Given the description of an element on the screen output the (x, y) to click on. 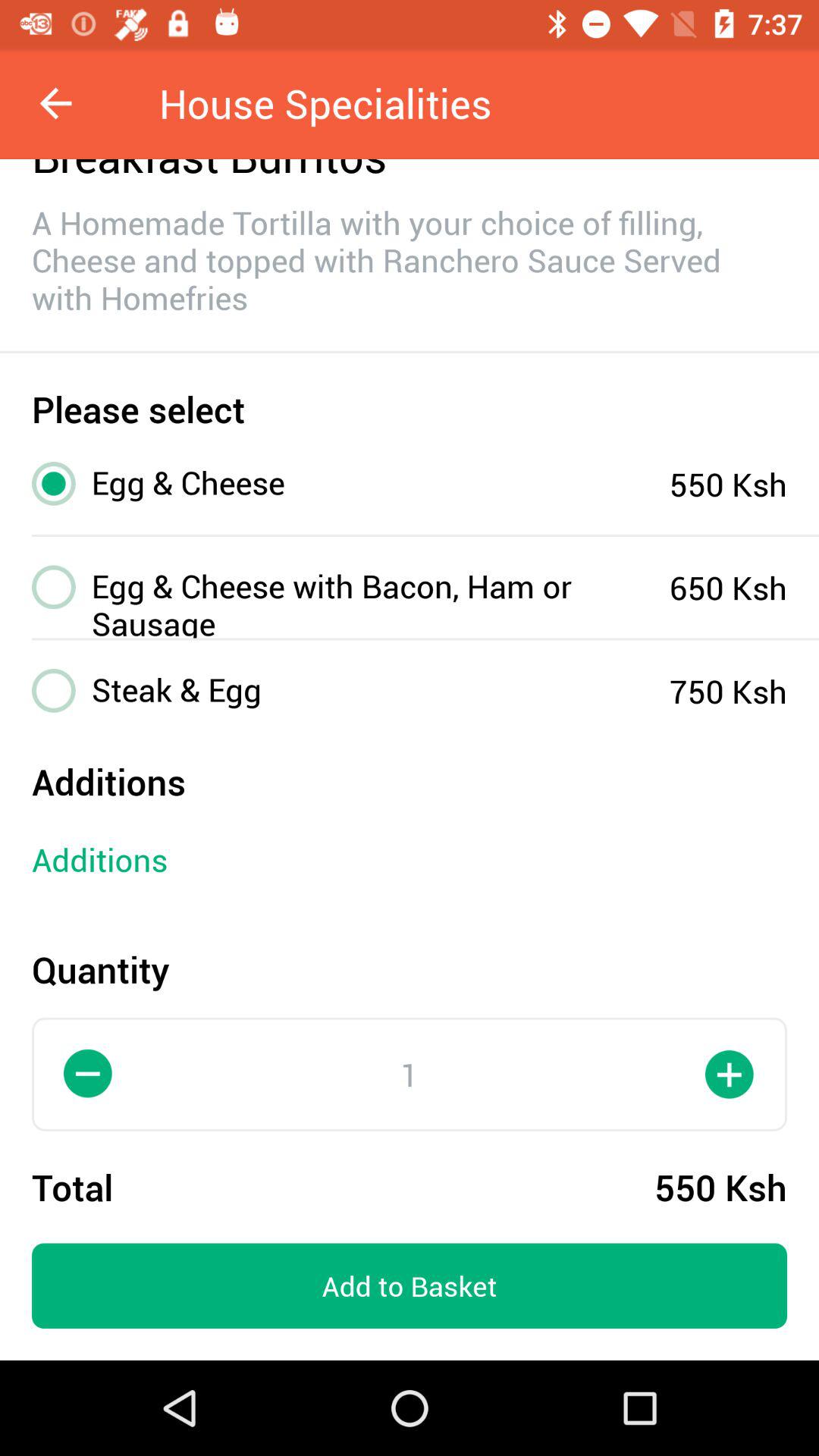
scroll until add to basket icon (409, 1285)
